Given the description of an element on the screen output the (x, y) to click on. 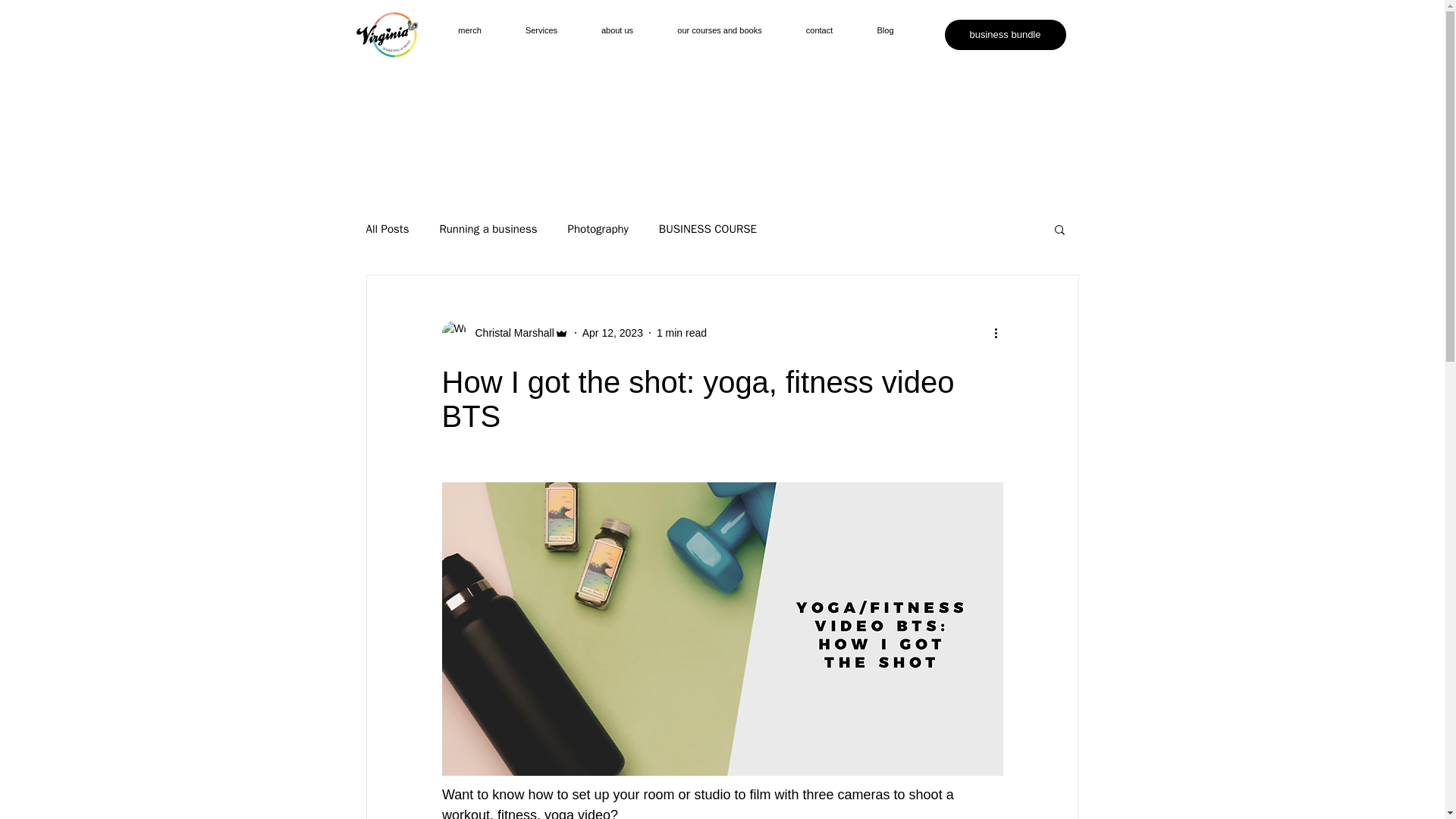
Christal  Marshall (509, 332)
1 min read (681, 331)
Apr 12, 2023 (612, 331)
